Given the description of an element on the screen output the (x, y) to click on. 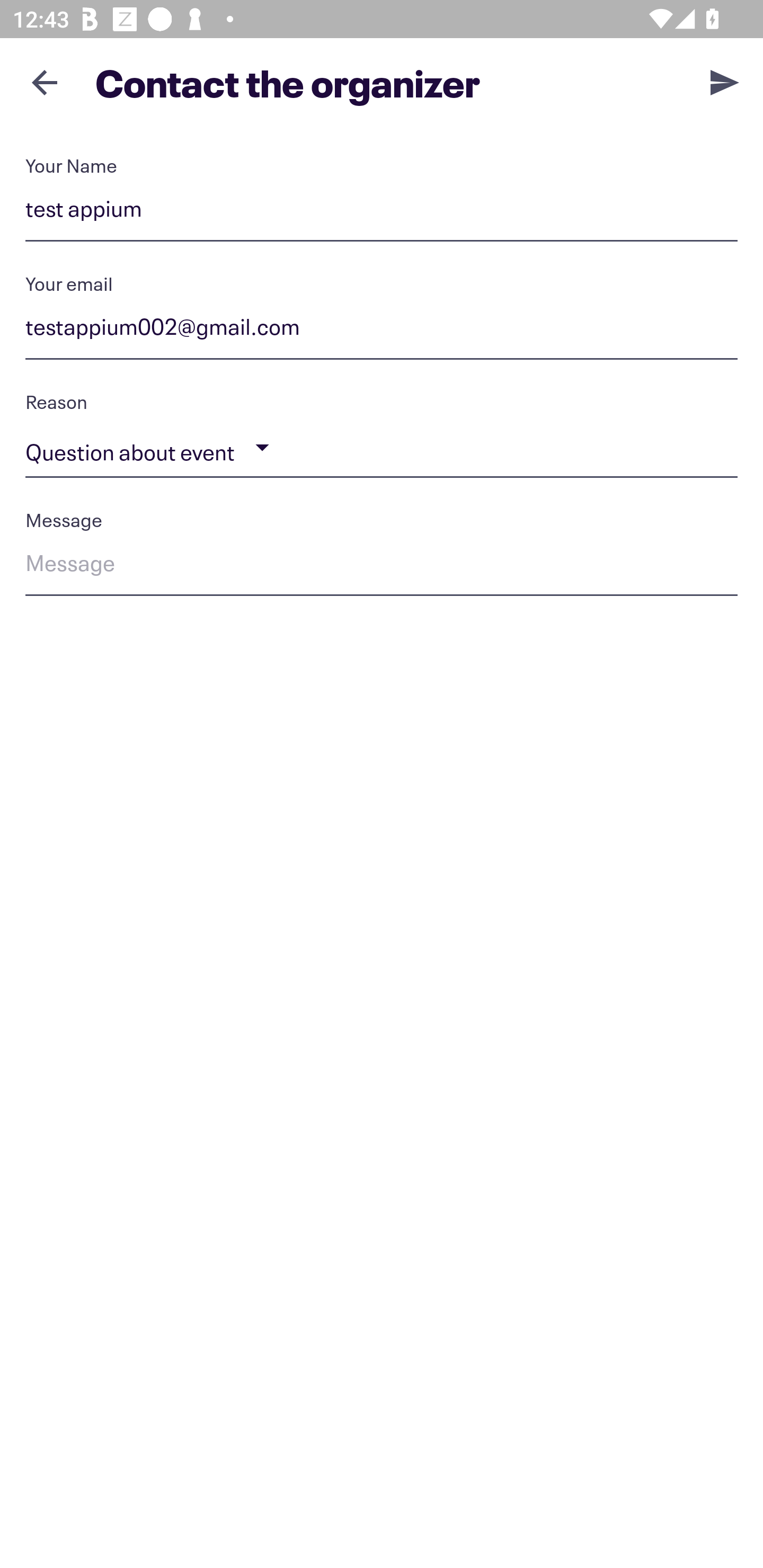
Navigate up (44, 82)
Send (724, 81)
test appium (381, 211)
testappium002@gmail.com (381, 329)
Question about event    (381, 447)
Message (381, 565)
